Given the description of an element on the screen output the (x, y) to click on. 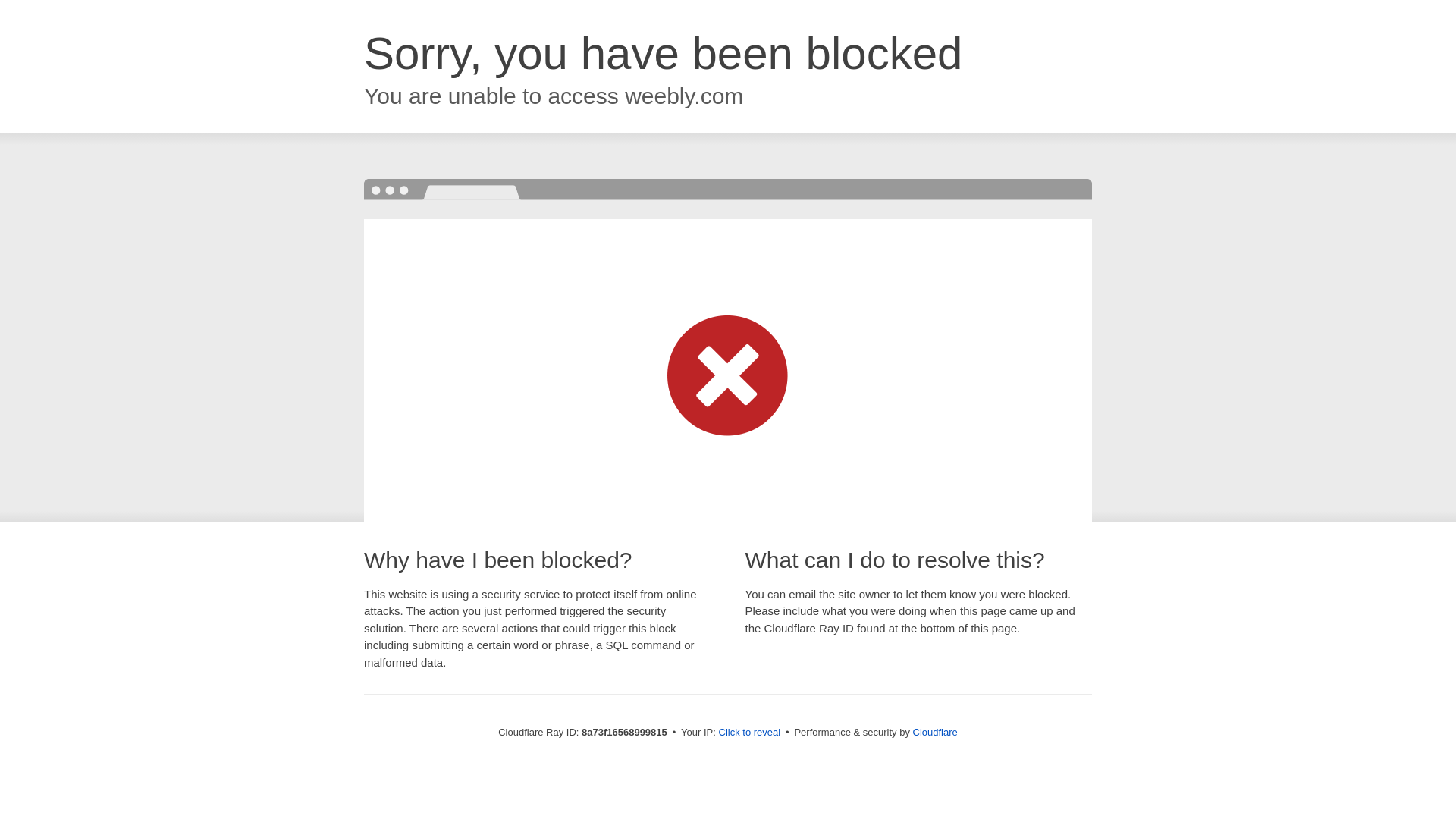
Click to reveal (749, 732)
Cloudflare (935, 731)
